Given the description of an element on the screen output the (x, y) to click on. 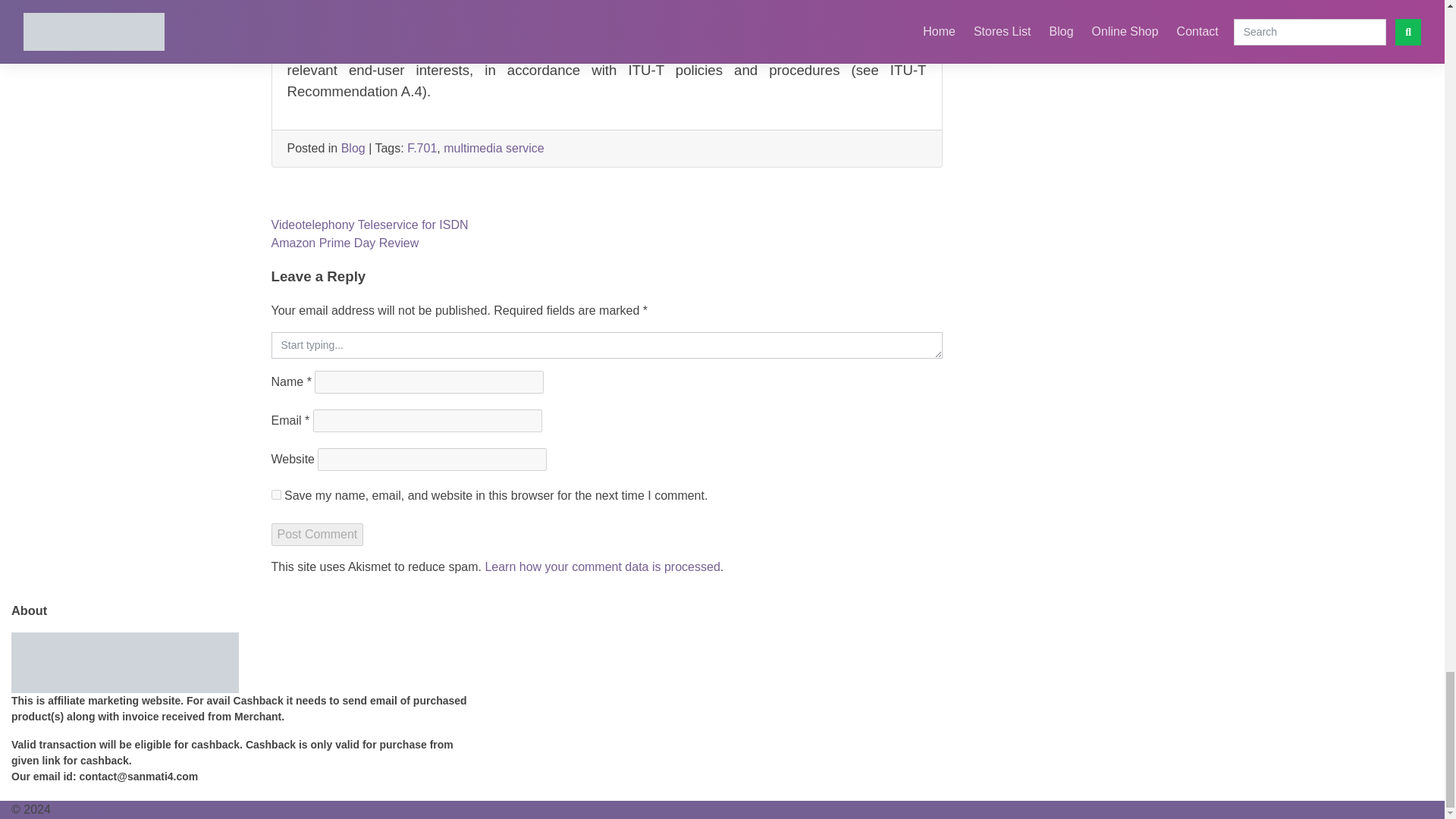
multimedia service (493, 147)
Post Comment (317, 534)
Blog (352, 147)
Learn how your comment data is processed (601, 566)
yes (275, 494)
Amazon Prime Day Review (344, 242)
Videotelephony Teleservice for ISDN (369, 224)
F.701 (421, 147)
Post Comment (317, 534)
